Given the description of an element on the screen output the (x, y) to click on. 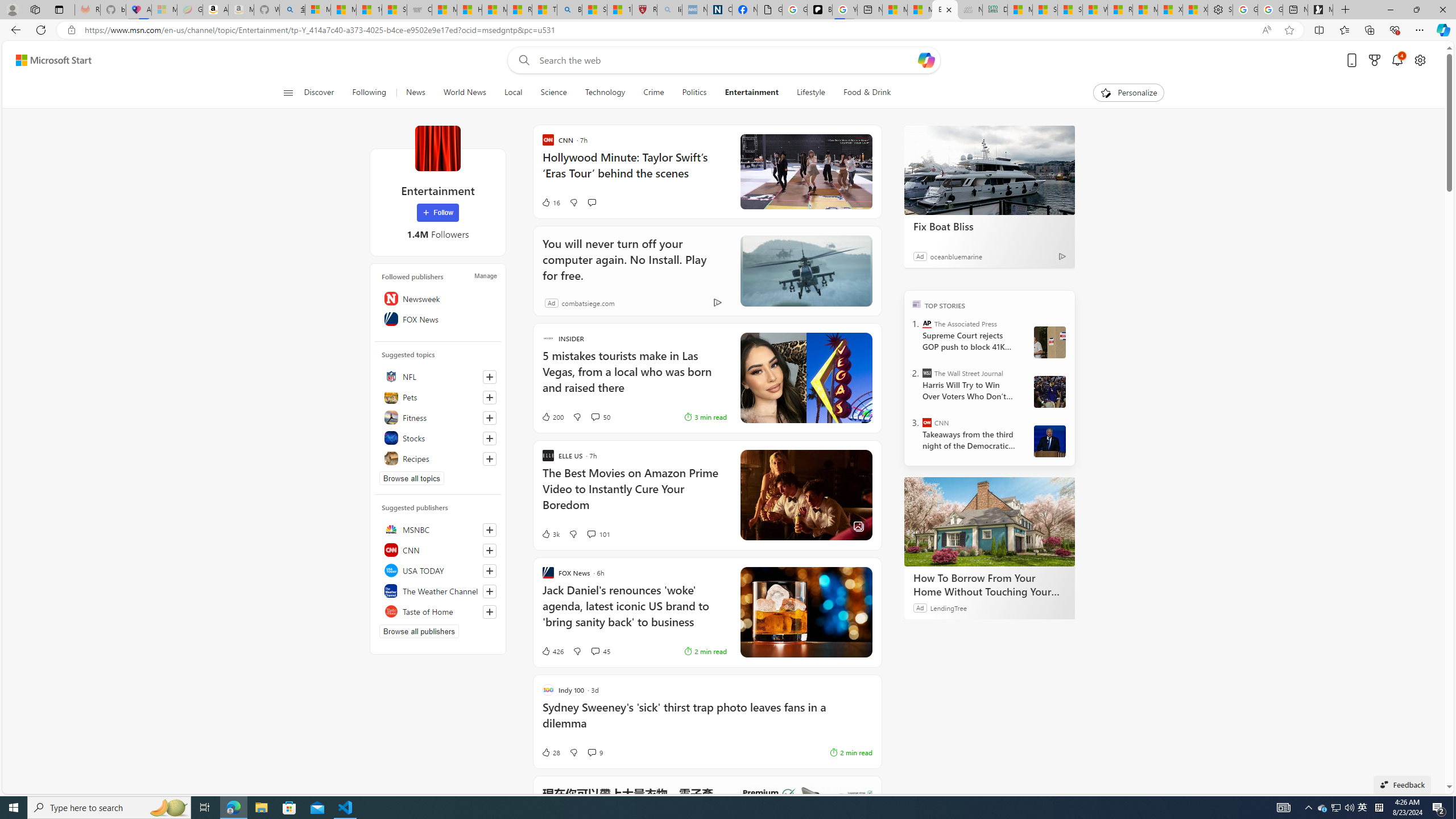
12 Popular Science Lies that Must be Corrected (619, 9)
Follow this topic (489, 458)
28 Like (549, 752)
FOX News (437, 318)
Follow this topic (489, 459)
Fix Boat Bliss (988, 226)
DITOGAMES AG Imprint (993, 9)
